Given the description of an element on the screen output the (x, y) to click on. 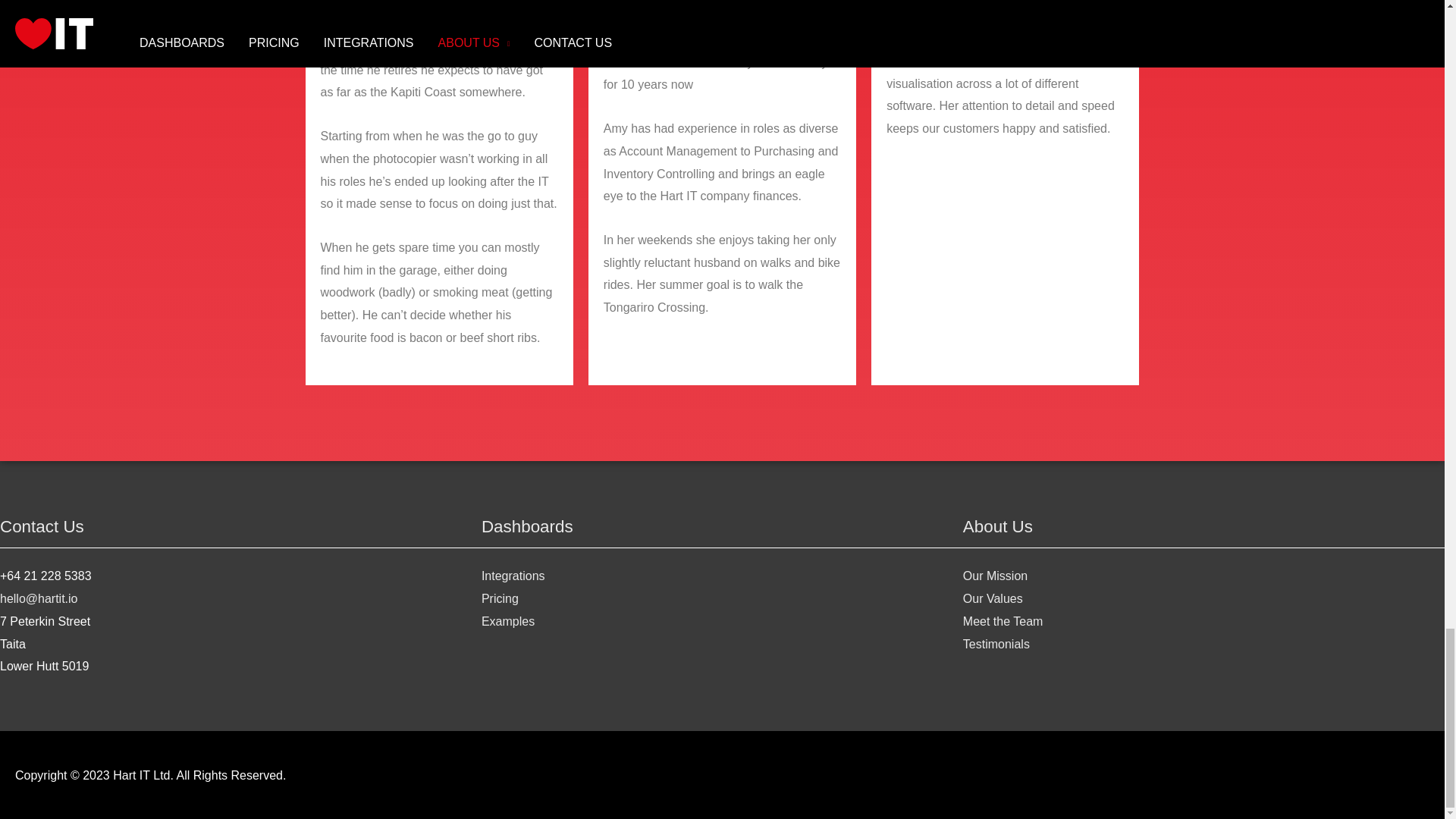
Pricing (499, 598)
Examples (507, 621)
Meet the Team (1002, 621)
Our Mission (994, 575)
Our Values (992, 598)
Integrations (512, 575)
Testimonials (995, 644)
